Given the description of an element on the screen output the (x, y) to click on. 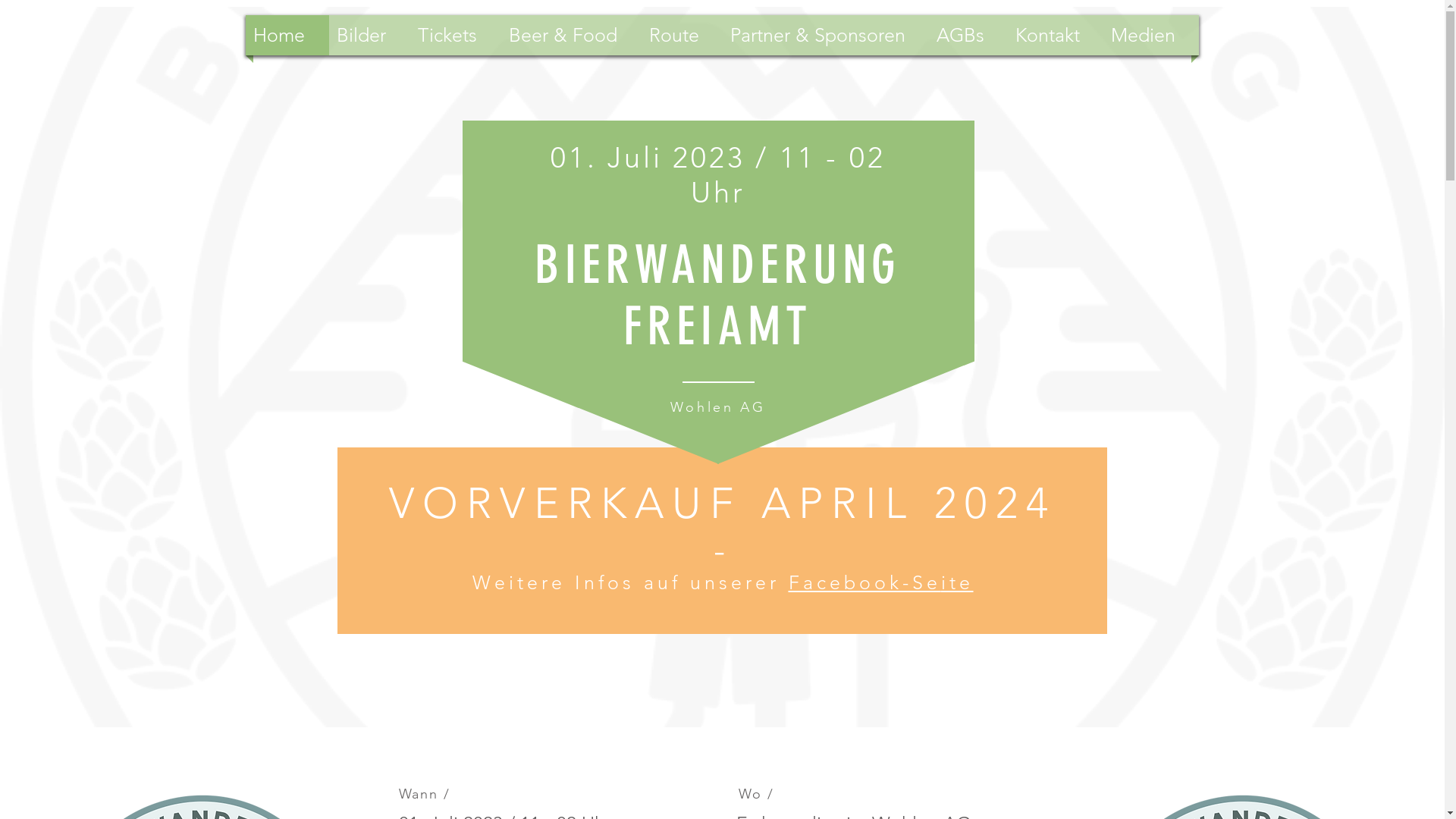
Kontakt Element type: text (1055, 35)
Tickets Element type: text (455, 35)
Medien Element type: text (1150, 35)
Home Element type: text (287, 35)
Route Element type: text (681, 35)
Partner & Sponsoren Element type: text (825, 35)
Beer & Food Element type: text (571, 35)
Facebook-Seite Element type: text (880, 582)
AGBs Element type: text (967, 35)
Bilder Element type: text (369, 35)
